Given the description of an element on the screen output the (x, y) to click on. 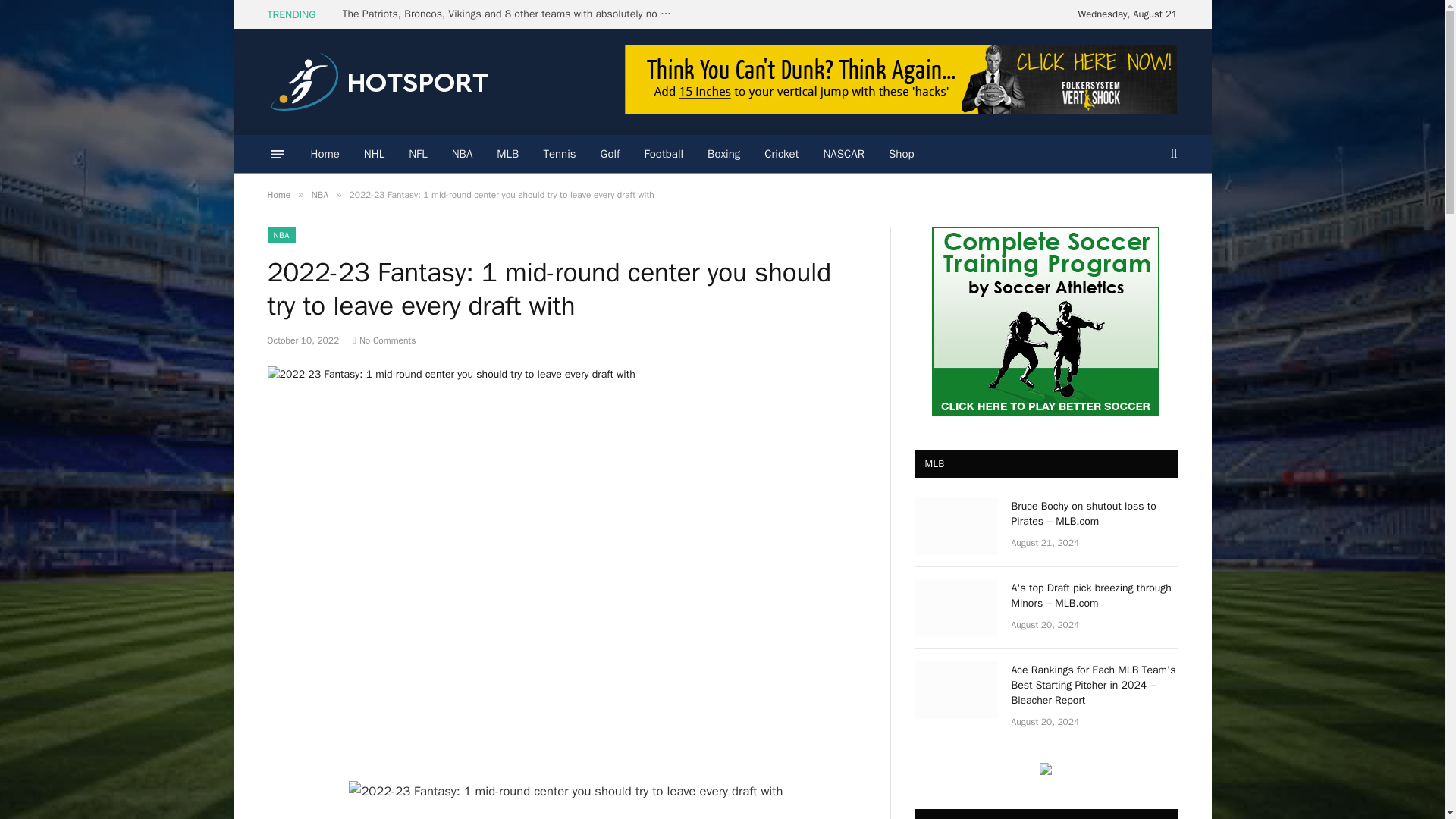
Home (325, 153)
MLB (507, 153)
Football (663, 153)
NBA (461, 153)
NASCAR (843, 153)
Boxing (723, 153)
NBA (320, 194)
Golf (609, 153)
Home (277, 194)
